Given the description of an element on the screen output the (x, y) to click on. 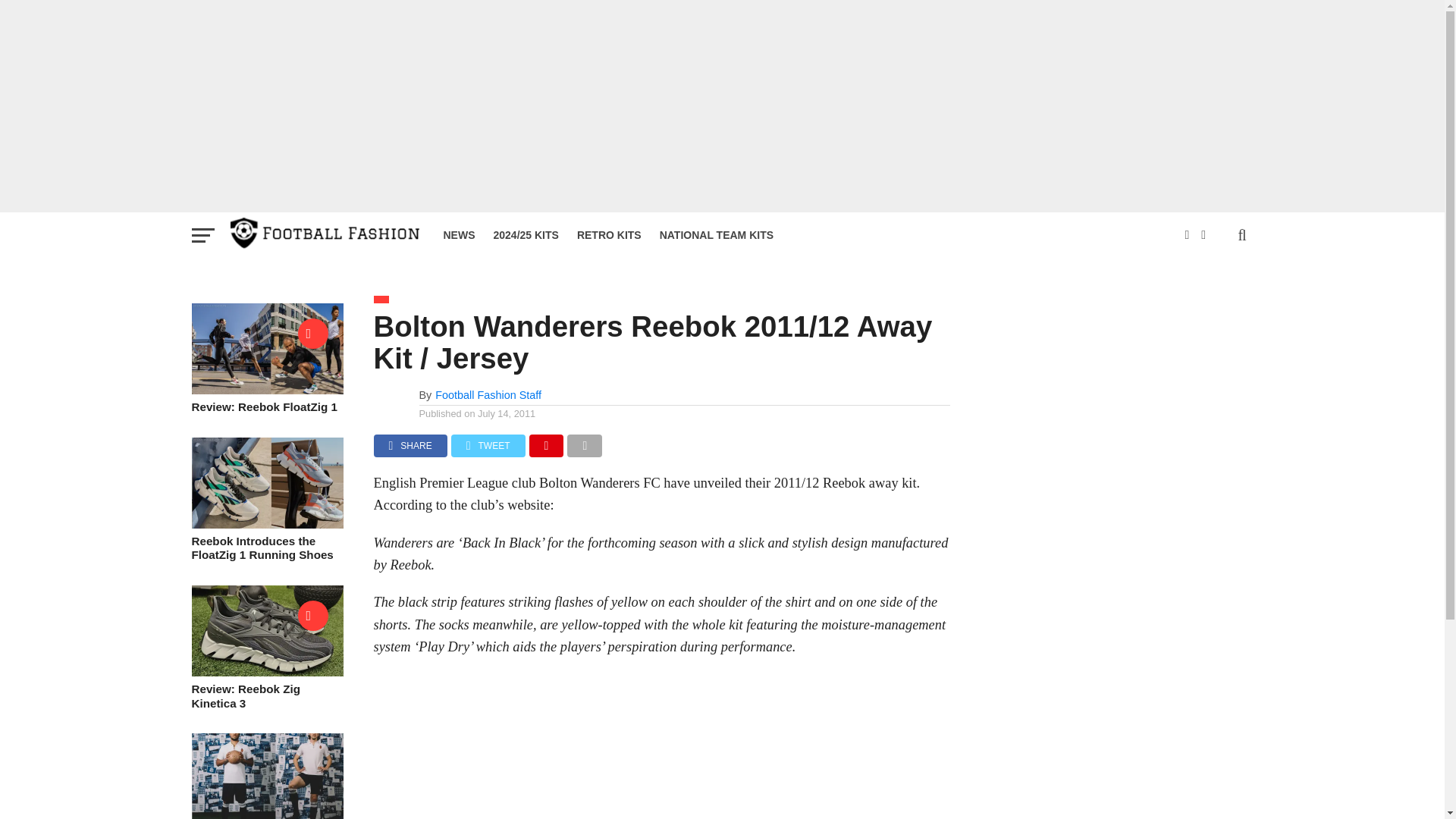
Posts by Football Fashion Staff (488, 395)
Bolton Wanderers 1923 FA Cup Centenary Macron Kit (266, 816)
Review: Reebok FloatZig 1 (266, 390)
Review: Reebok Zig Kinetica 3 (266, 671)
Reebok Introduces the FloatZig 1 Running Shoes (266, 523)
